Given the description of an element on the screen output the (x, y) to click on. 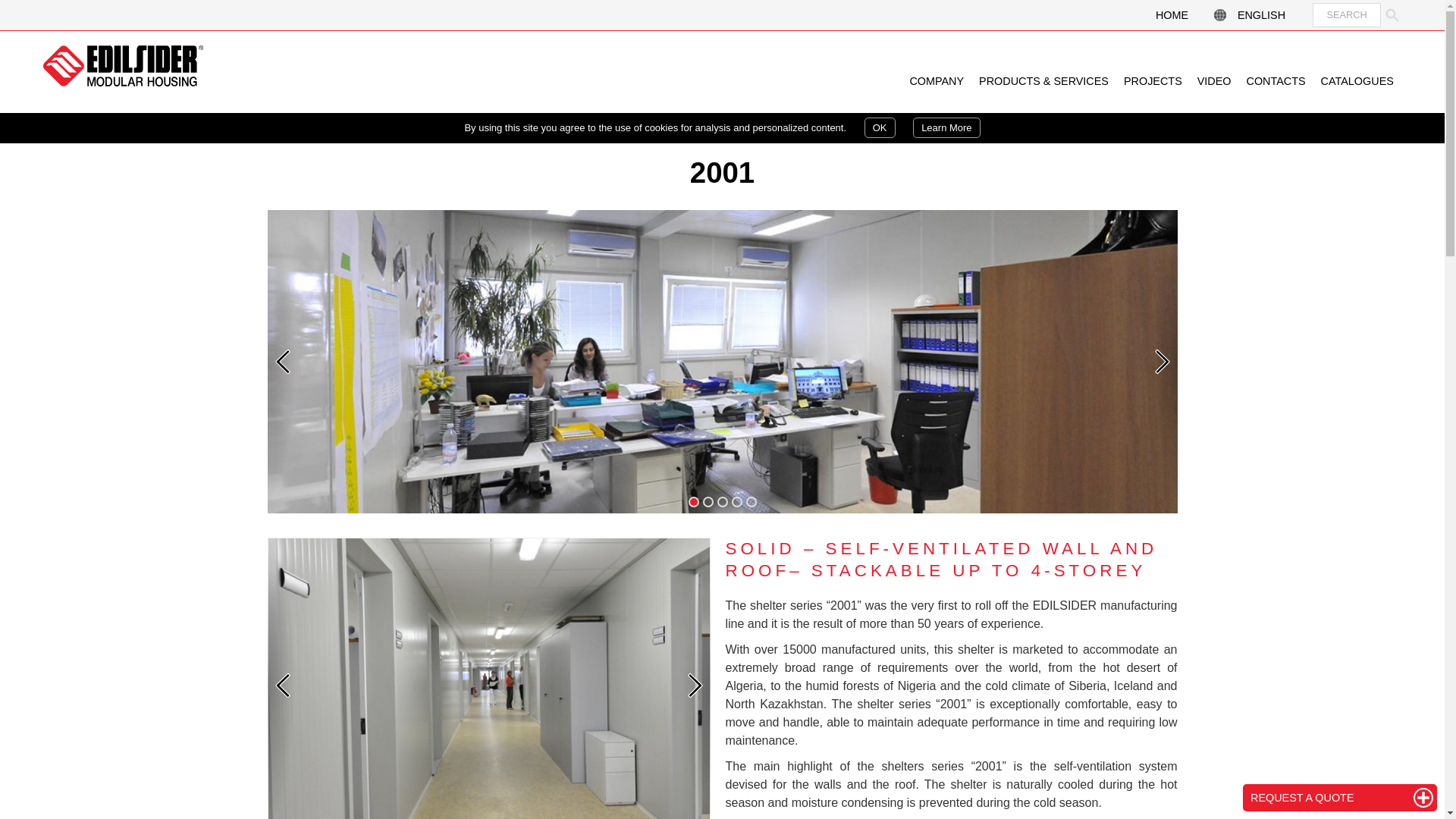
OK (879, 127)
PROJECTS (1152, 81)
CATALOGUES (1356, 81)
VIDEO (1214, 81)
ENGLISH (1261, 15)
HOME (1171, 15)
EDILSIDER S.p.A. (123, 65)
COMPANY (936, 81)
CONTACTS (1276, 81)
Learn More (945, 127)
